Given the description of an element on the screen output the (x, y) to click on. 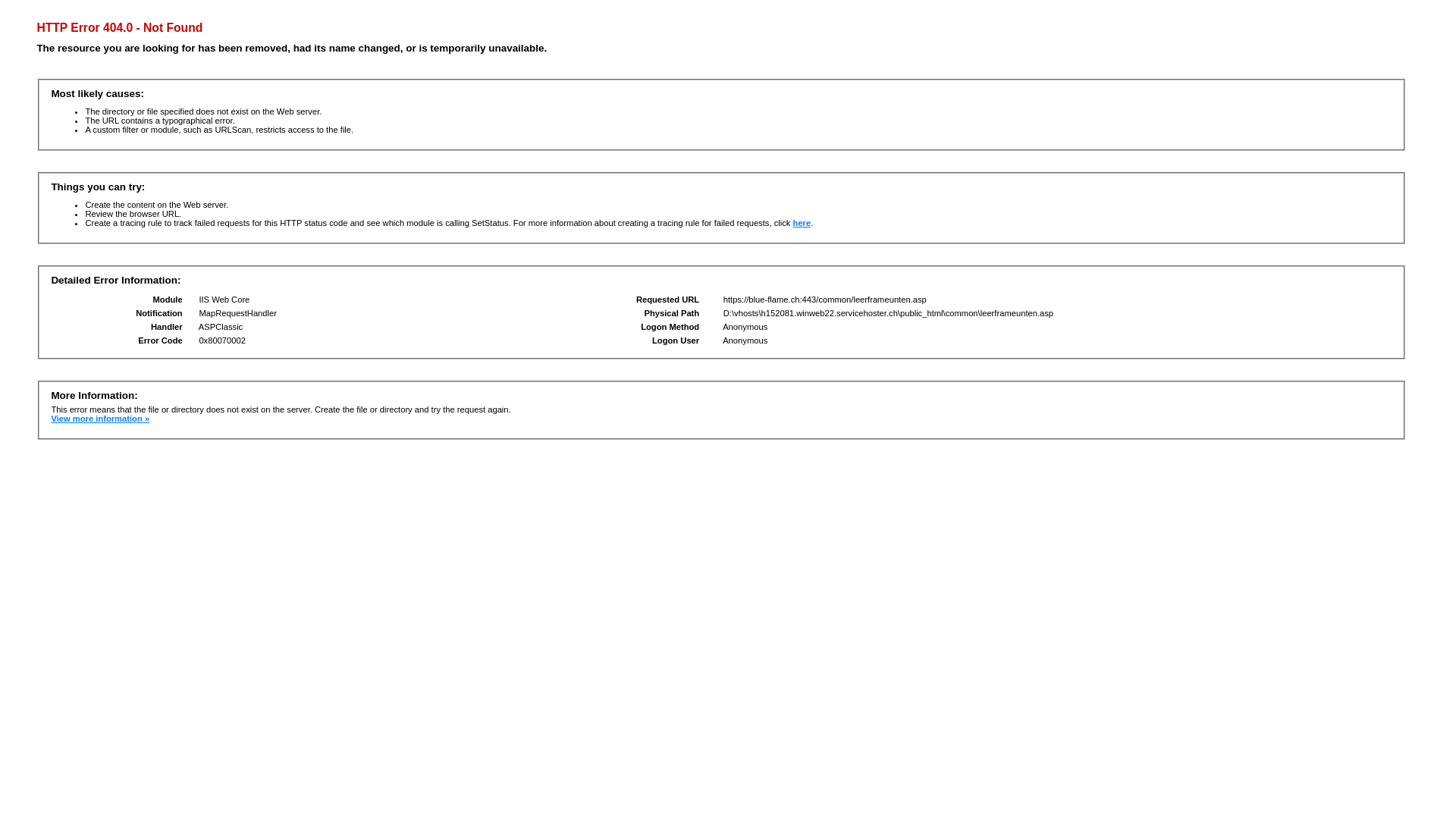
here Element type: text (802, 222)
